Given the description of an element on the screen output the (x, y) to click on. 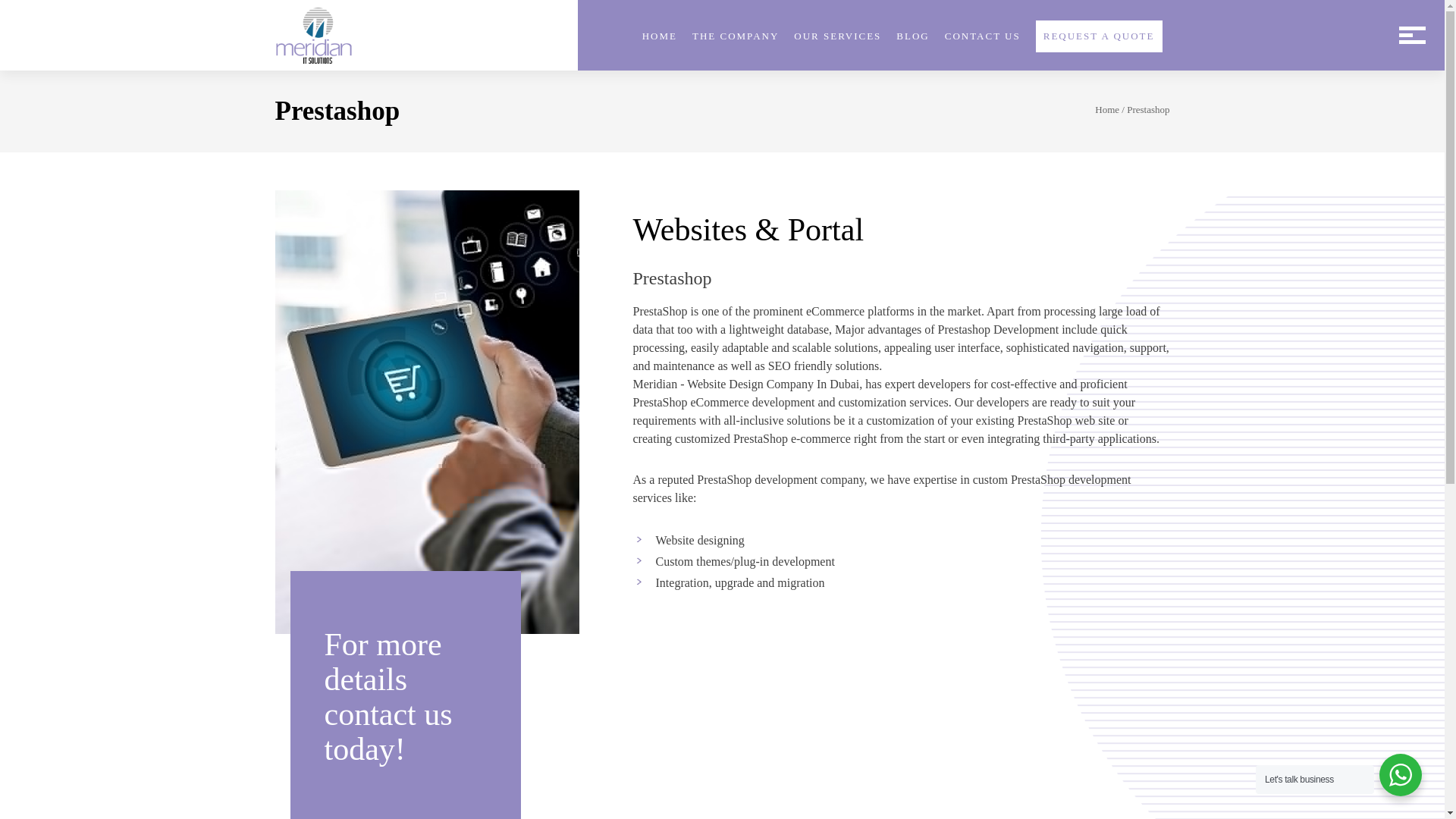
For more details contact us today! (405, 694)
HOME (659, 36)
OUR SERVICES (836, 36)
index.html (313, 35)
BLOG (912, 36)
CONTACT US (982, 36)
REQUEST A QUOTE (1098, 36)
Home (1106, 109)
THE COMPANY (735, 36)
